Given the description of an element on the screen output the (x, y) to click on. 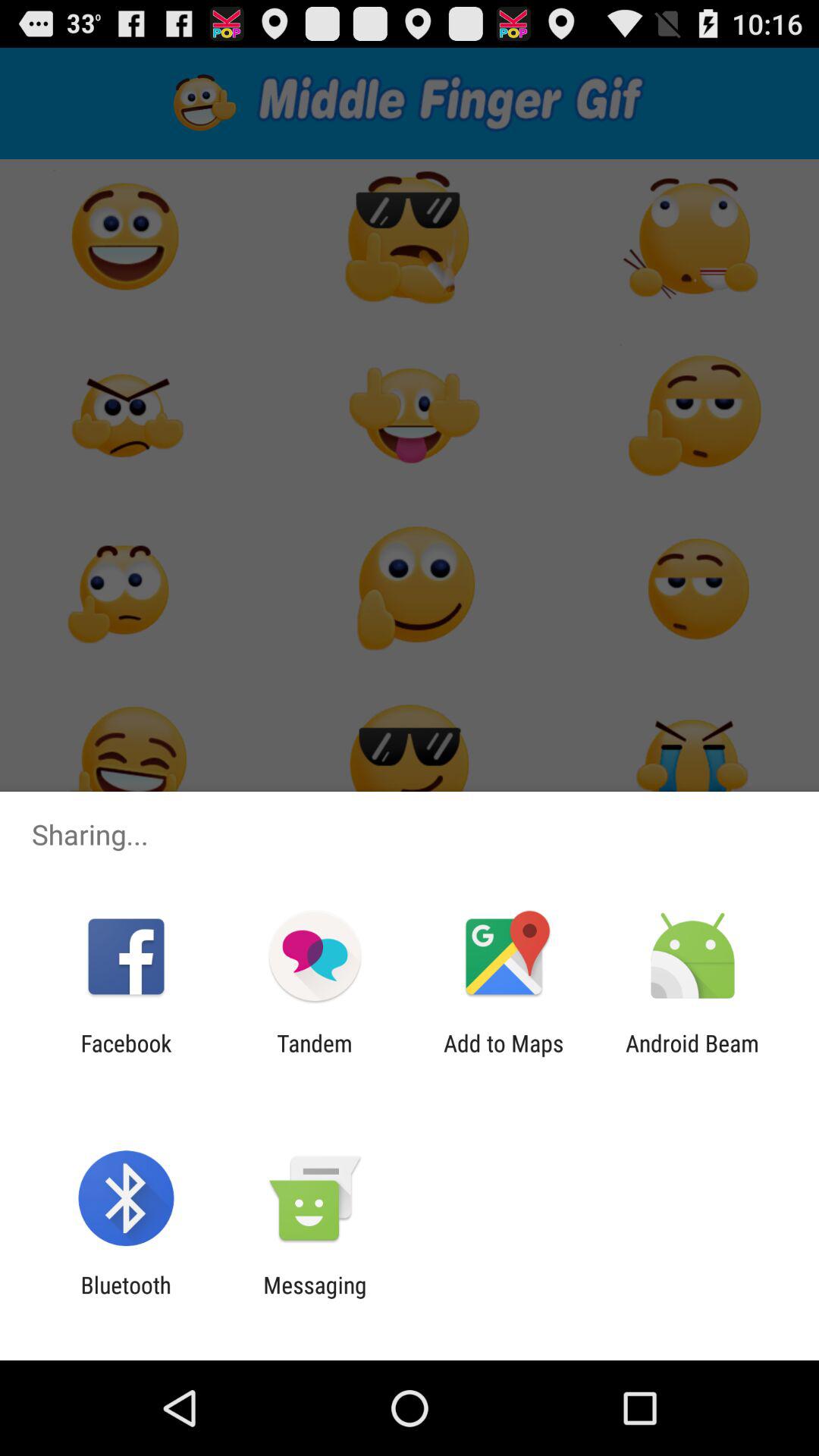
turn off item next to the tandem icon (503, 1056)
